Given the description of an element on the screen output the (x, y) to click on. 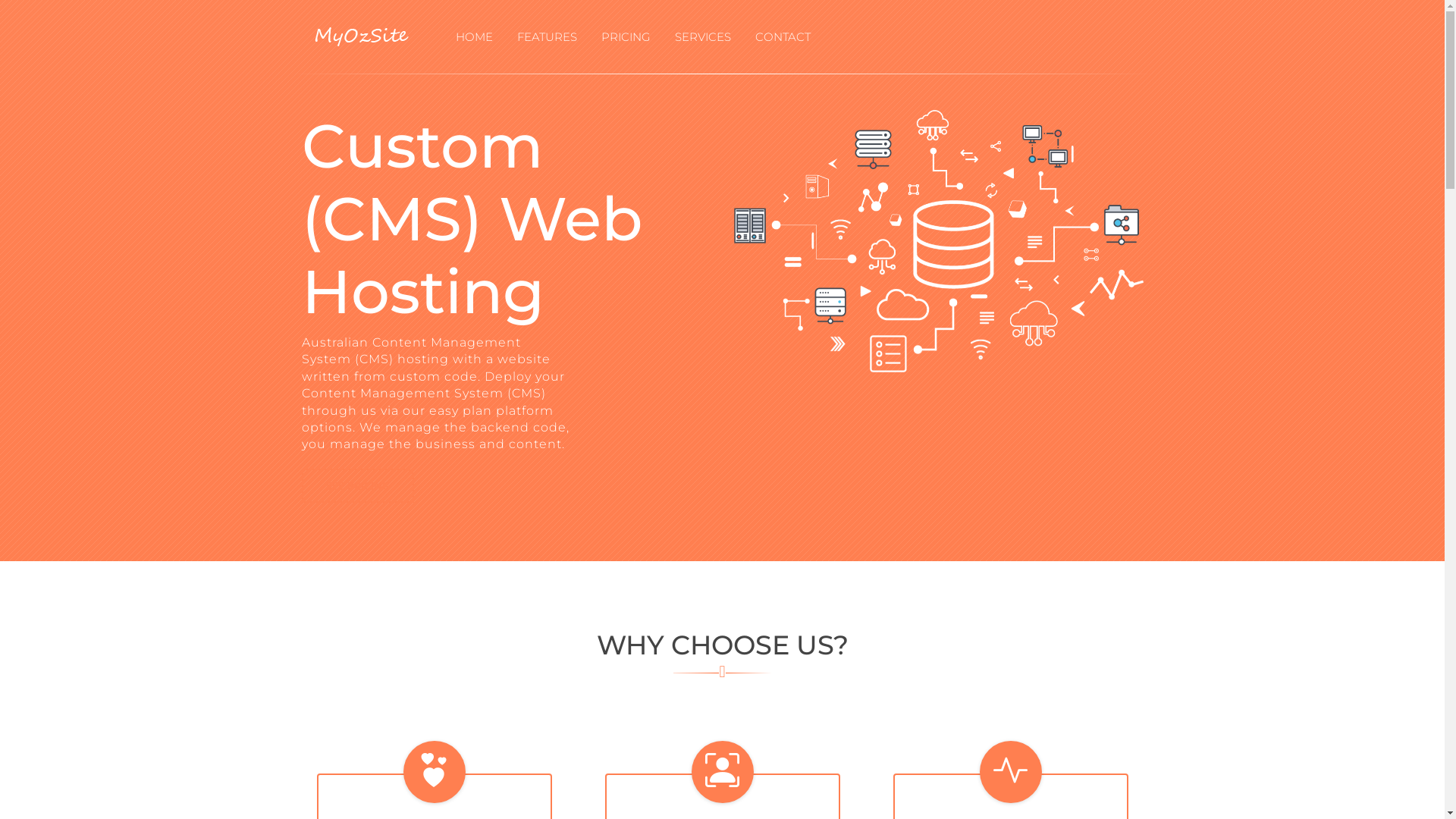
PRICING Element type: text (625, 37)
HOME Element type: text (473, 37)
SEE PRICING Element type: text (357, 485)
SERVICES Element type: text (702, 37)
FEATURES Element type: text (547, 37)
CONTACT Element type: text (782, 37)
